Given the description of an element on the screen output the (x, y) to click on. 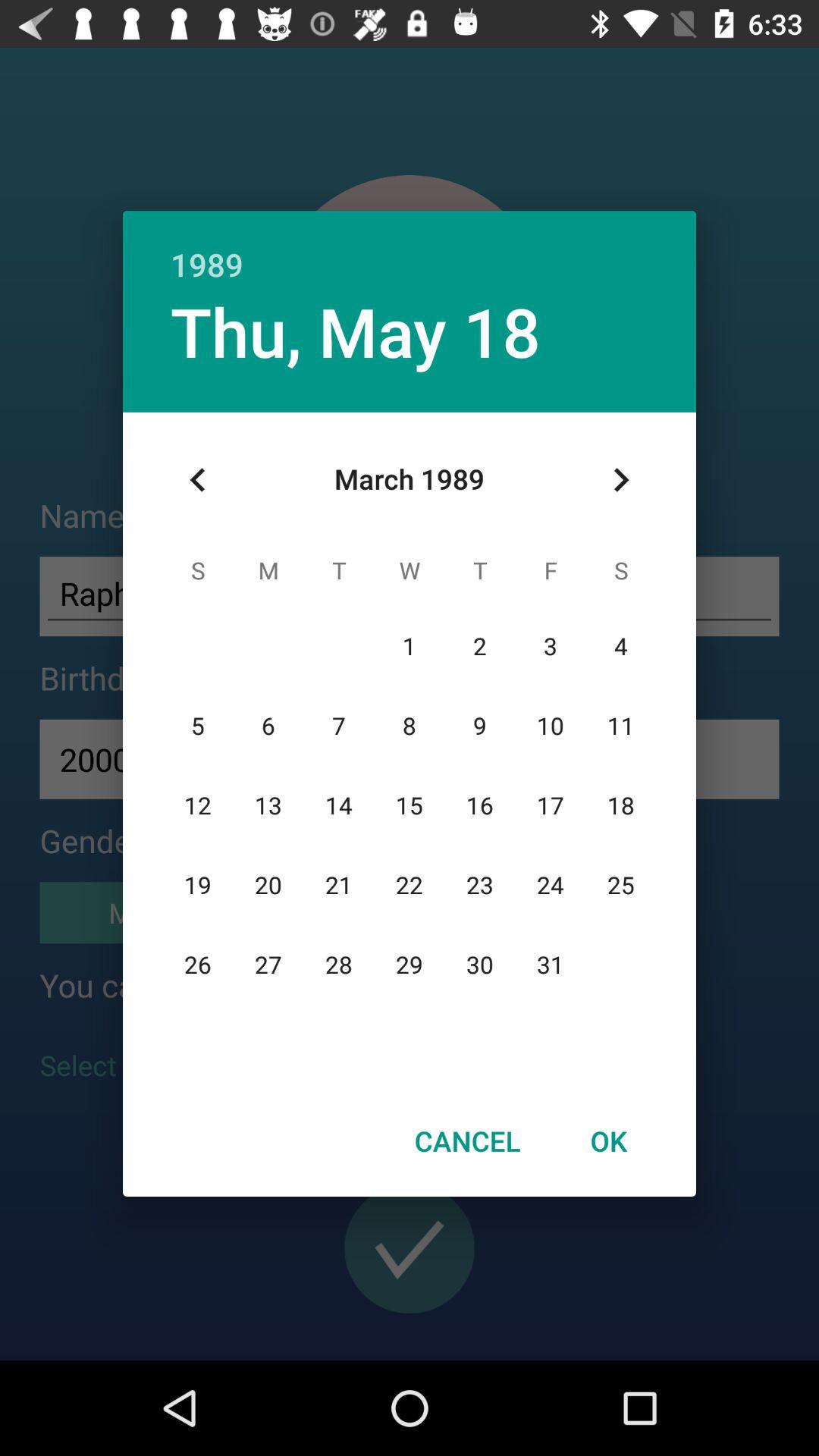
launch the button next to cancel icon (608, 1140)
